Given the description of an element on the screen output the (x, y) to click on. 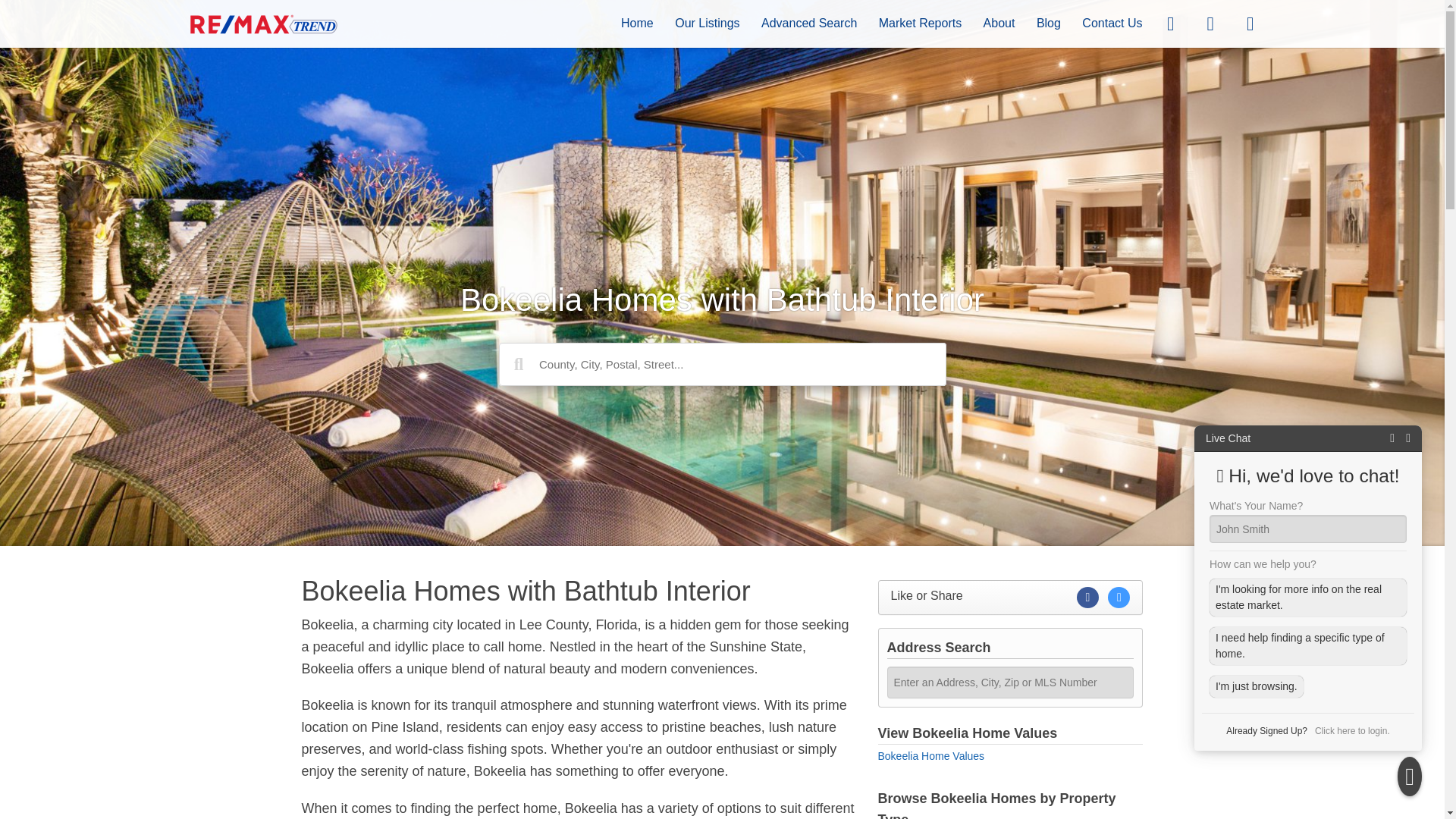
Contact Us (1111, 22)
Advanced Search (809, 22)
Market Reports (919, 22)
Bokeelia Homes with Bathtub Interior (578, 591)
About (999, 22)
Home (637, 22)
Our Listings (707, 22)
Live Chat: undefined (1227, 437)
Blog (1048, 22)
